Given the description of an element on the screen output the (x, y) to click on. 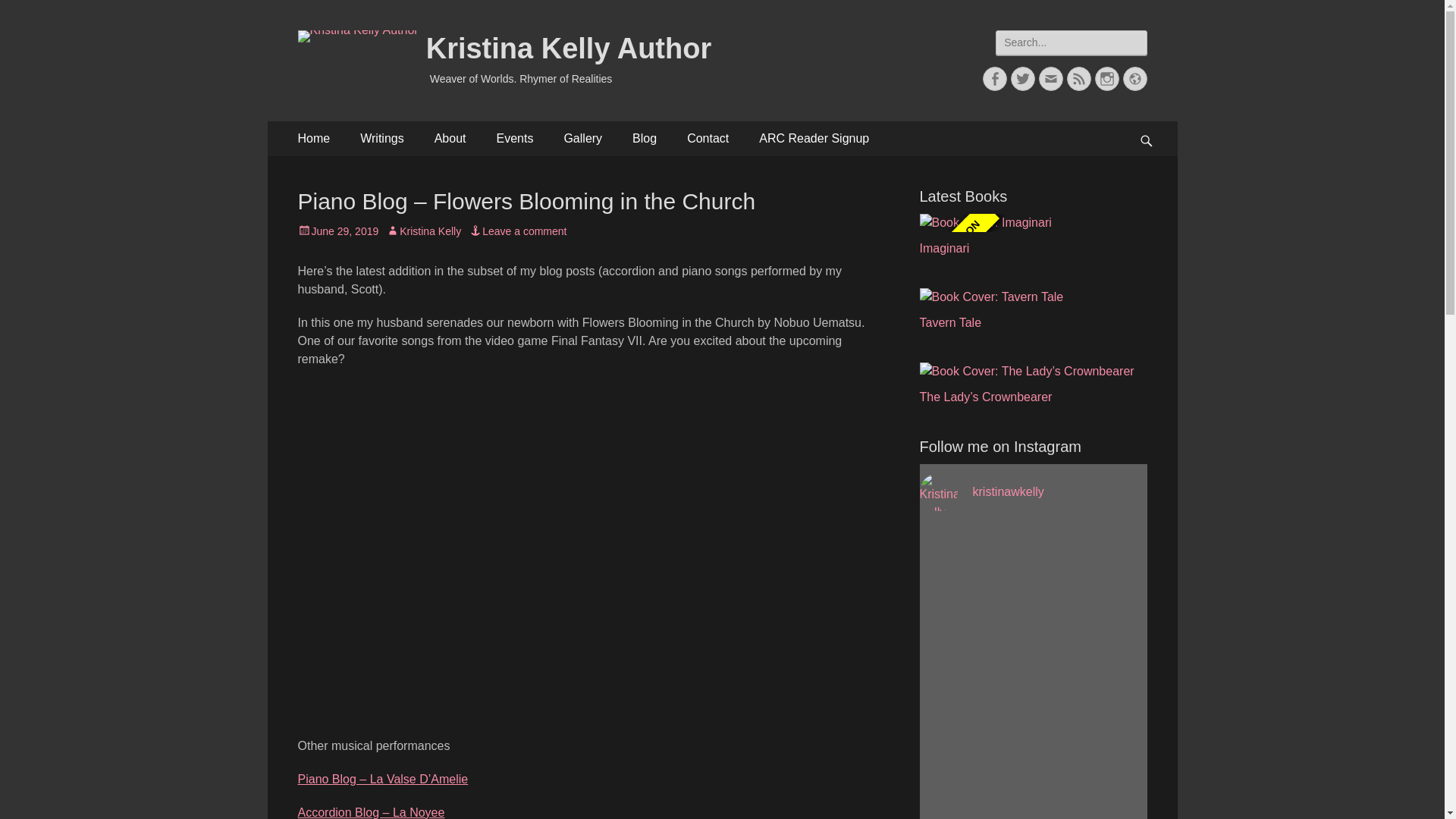
Kristina Kelly (423, 231)
June 29, 2019 (337, 231)
Search (27, 14)
ARC Reader Signup (813, 138)
About (450, 138)
Website (1134, 78)
Events (514, 138)
Website (1134, 78)
Twitter (1021, 78)
